Given the description of an element on the screen output the (x, y) to click on. 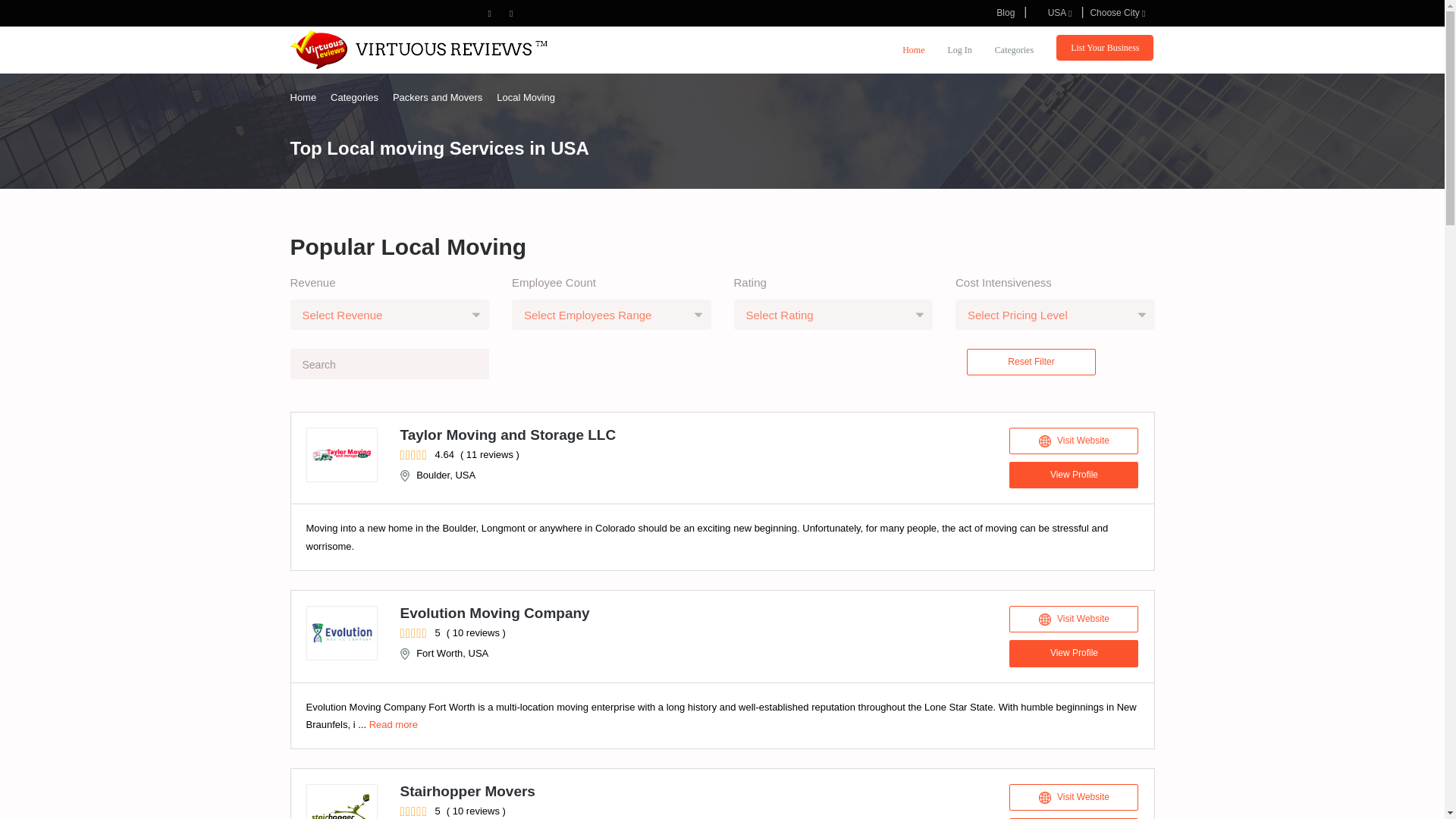
USA (1051, 12)
select city (1117, 12)
Virtuous Reviews (418, 49)
Blog (1005, 12)
The Official Virtuous Reviews Blog (1005, 12)
Choose City (1117, 12)
